Given the description of an element on the screen output the (x, y) to click on. 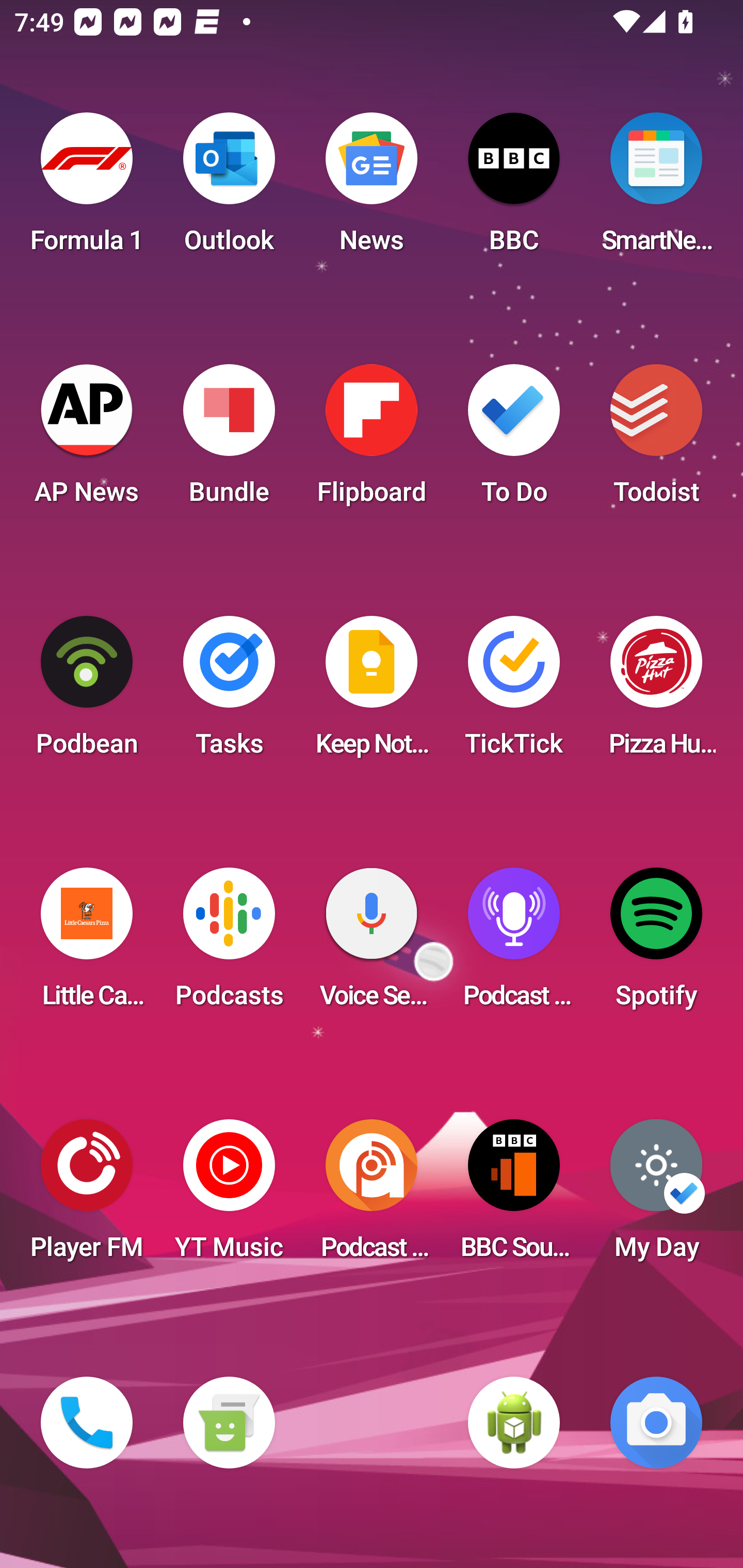
Formula 1 (86, 188)
Outlook (228, 188)
News (371, 188)
BBC (513, 188)
SmartNews (656, 188)
AP News (86, 440)
Bundle (228, 440)
Flipboard (371, 440)
To Do (513, 440)
Todoist (656, 440)
Podbean (86, 692)
Tasks (228, 692)
Keep Notes (371, 692)
TickTick (513, 692)
Pizza Hut HK & Macau (656, 692)
Little Caesars Pizza (86, 943)
Podcasts (228, 943)
Voice Search (371, 943)
Podcast Player (513, 943)
Spotify (656, 943)
Player FM (86, 1195)
YT Music (228, 1195)
Podcast Addict (371, 1195)
BBC Sounds (513, 1195)
My Day (656, 1195)
Phone (86, 1422)
Messaging (228, 1422)
WebView Browser Tester (513, 1422)
Camera (656, 1422)
